Given the description of an element on the screen output the (x, y) to click on. 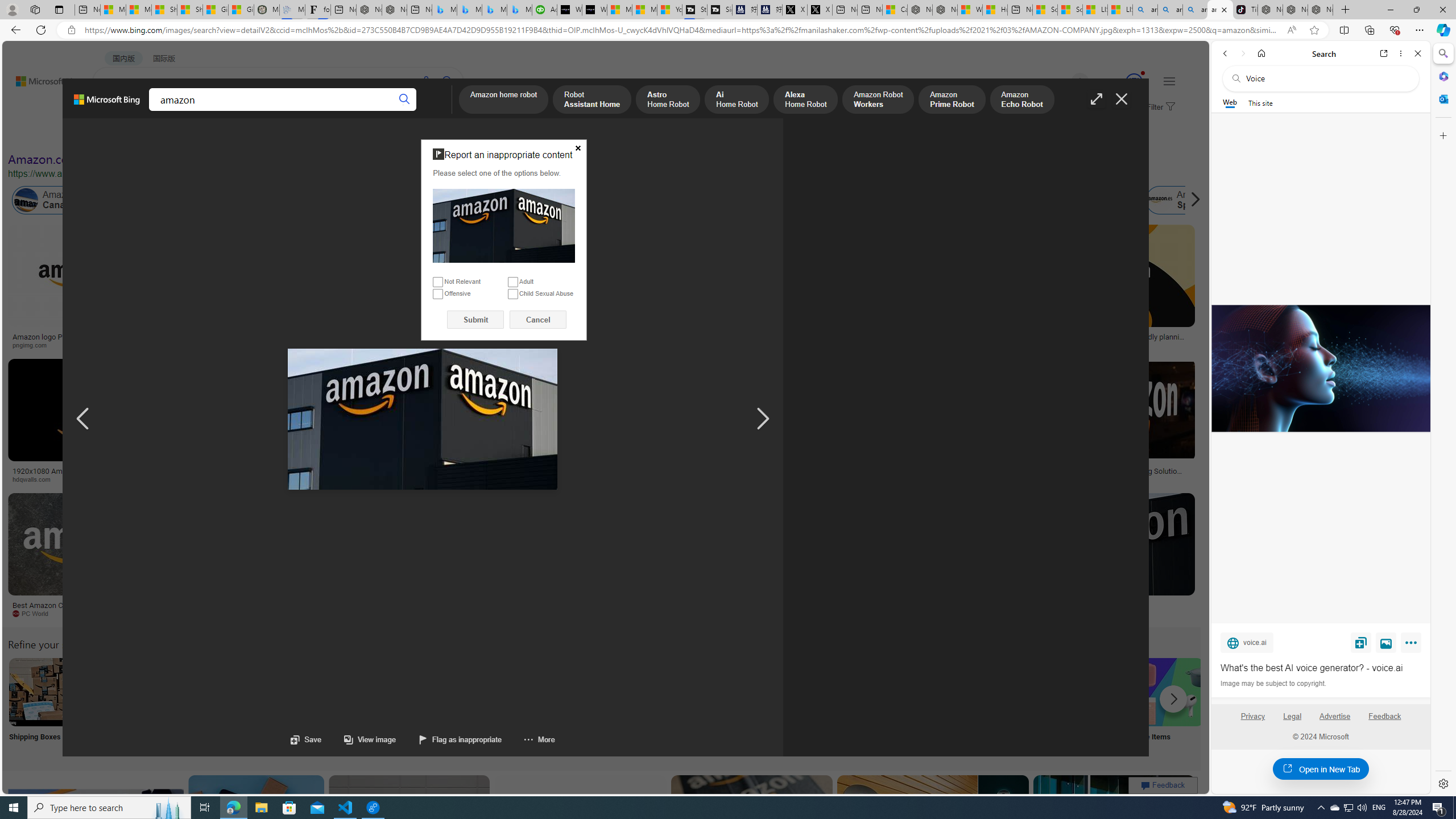
Microsoft Bing, Back to Bing search (106, 104)
Amazon Clip Art Clip Art (192, 706)
Class: item col (1183, 199)
Best Amazon Cyber Monday deals 2019 | PCWorld (82, 608)
DICT (357, 111)
Amazon home robot (503, 100)
Streaming Coverage | T3 (694, 9)
Amazon Logo Png Hd Wallpaper | Images and Photos finder (559, 340)
Listen: What's next for Amazon? (363, 336)
Visa Card Login (1093, 706)
